Given the description of an element on the screen output the (x, y) to click on. 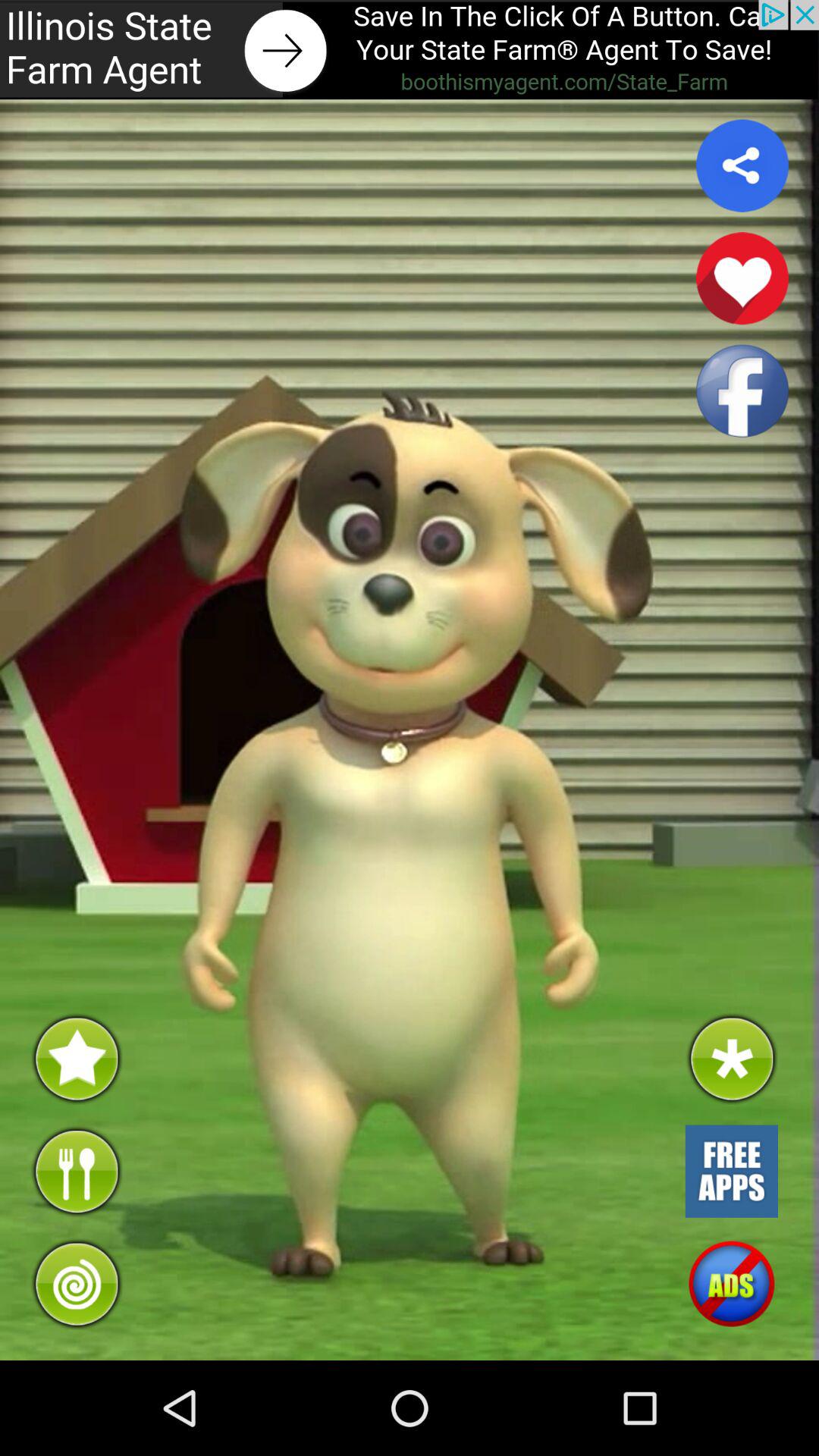
app store (731, 1170)
